Given the description of an element on the screen output the (x, y) to click on. 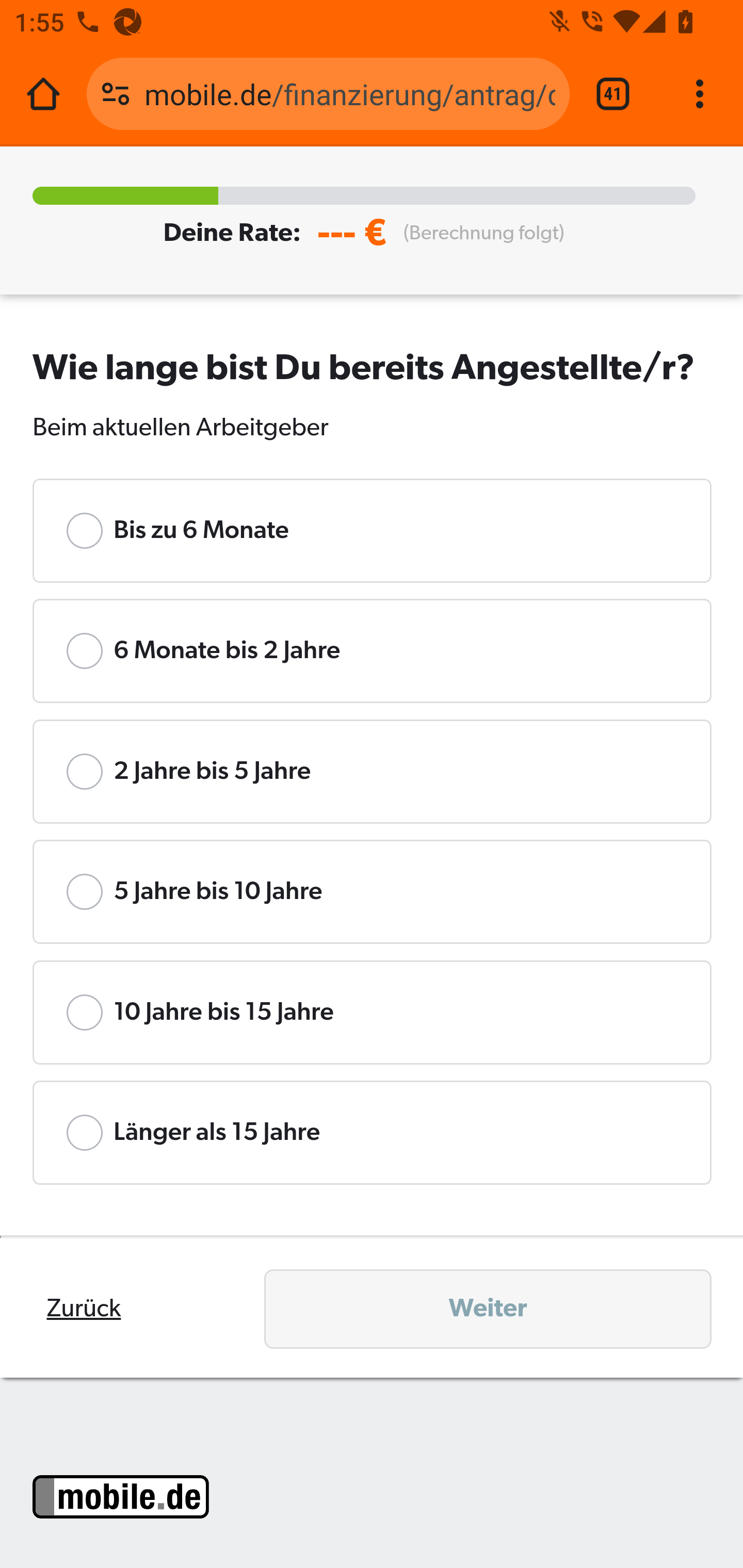
Open the home page (43, 93)
Connection is secure (115, 93)
Switch or close tabs (612, 93)
Customize and control Google Chrome (699, 93)
Weiter (488, 1308)
Zurück (83, 1308)
